Given the description of an element on the screen output the (x, y) to click on. 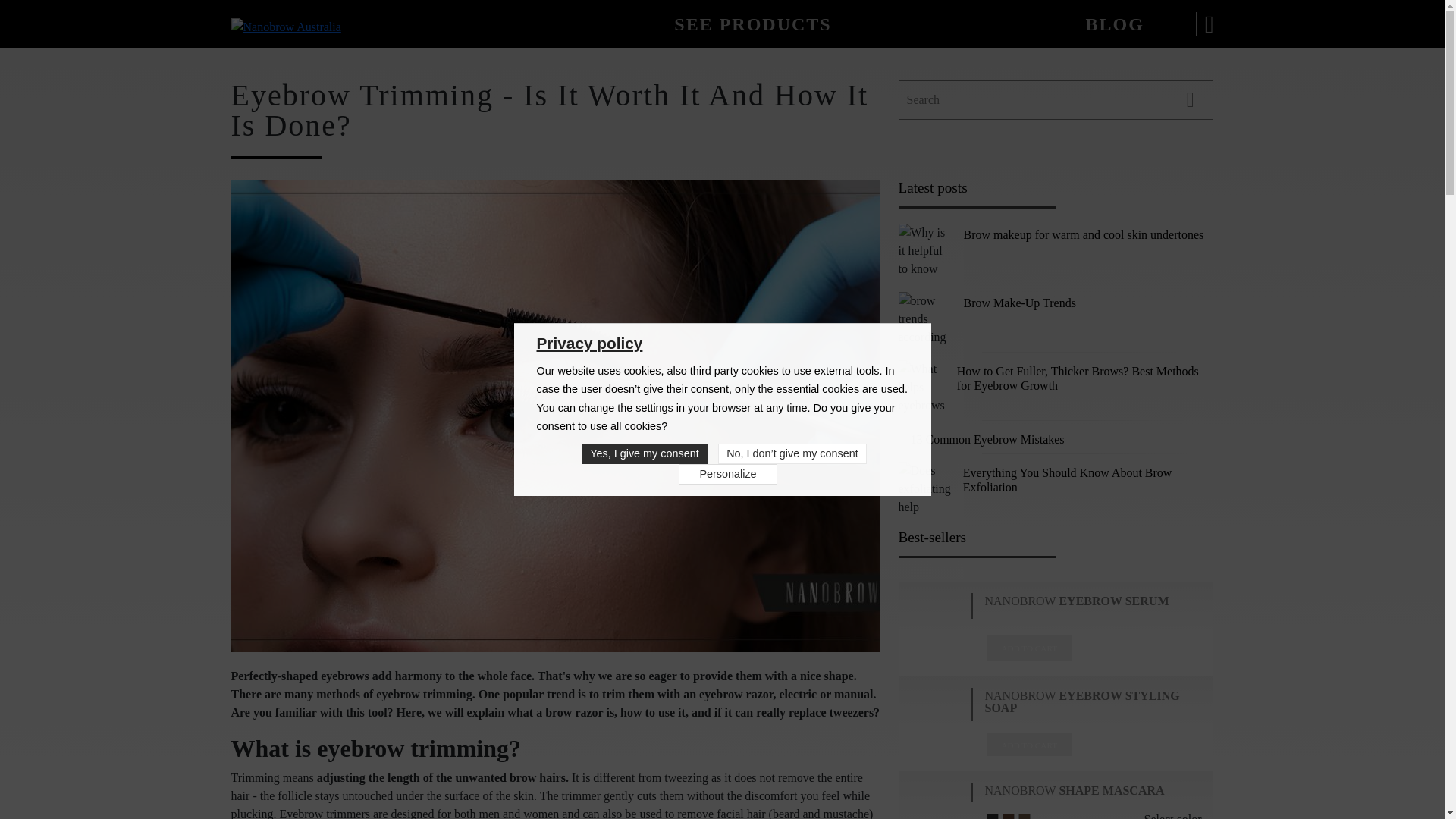
Brow Make-Up Trends (924, 317)
Brow makeup for warm and cool skin undertones (1083, 234)
13 Common Eyebrow Mistakes (987, 439)
BLOG (1113, 24)
Everything You Should Know About Brow Exfoliation (924, 488)
AU (1173, 24)
SEE PRODUCTS (752, 24)
Brow makeup for warm and cool skin undertones (924, 249)
Brow Make-Up Trends (1018, 302)
Nanobrow Australia (285, 27)
